Given the description of an element on the screen output the (x, y) to click on. 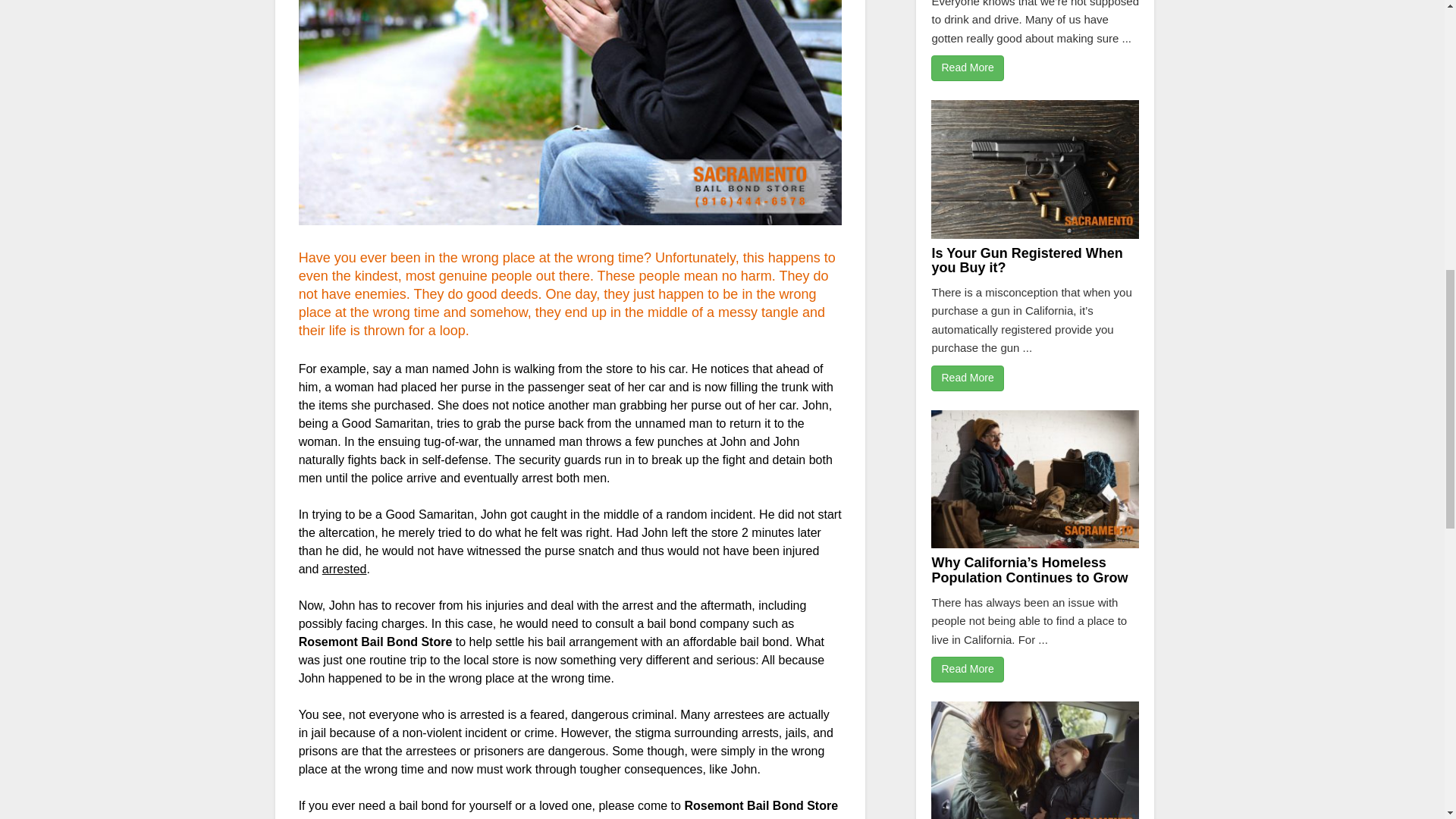
Read More (967, 68)
arrested (343, 568)
Read More (967, 378)
Read More (967, 669)
Is Your Gun Registered When you Buy it? (1026, 260)
